Given the description of an element on the screen output the (x, y) to click on. 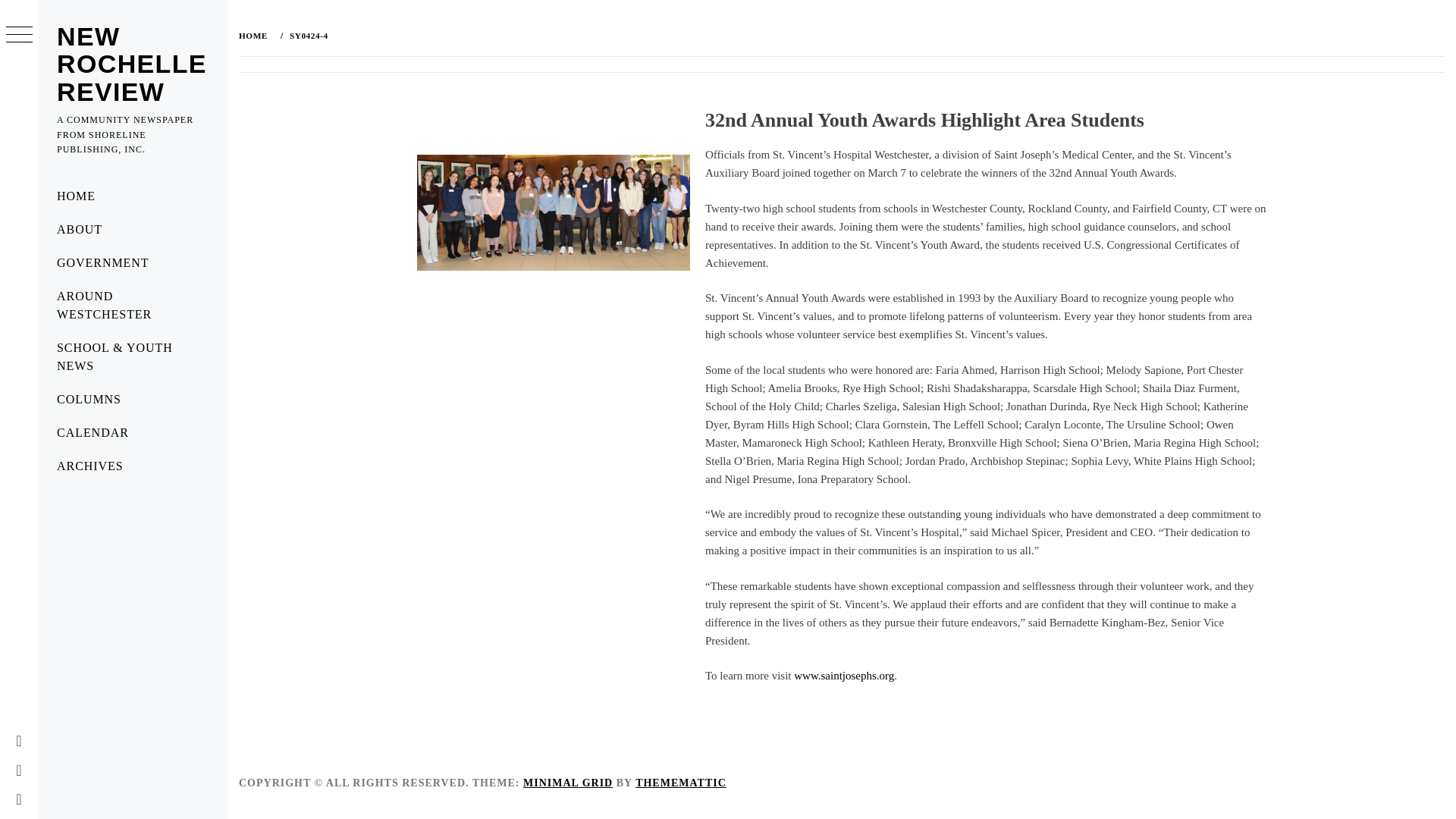
Search (652, 37)
MINIMAL GRID (567, 782)
AROUND WESTCHESTER (132, 305)
HOME (132, 195)
ABOUT (132, 229)
COLUMNS (132, 399)
SY0424-4 (307, 35)
CALENDAR (132, 432)
HOME (255, 35)
ARCHIVES (132, 466)
THEMEMATTIC (680, 782)
NEW ROCHELLE REVIEW (131, 64)
GOVERNMENT (132, 263)
www.saintjosephs.org (843, 675)
